Given the description of an element on the screen output the (x, y) to click on. 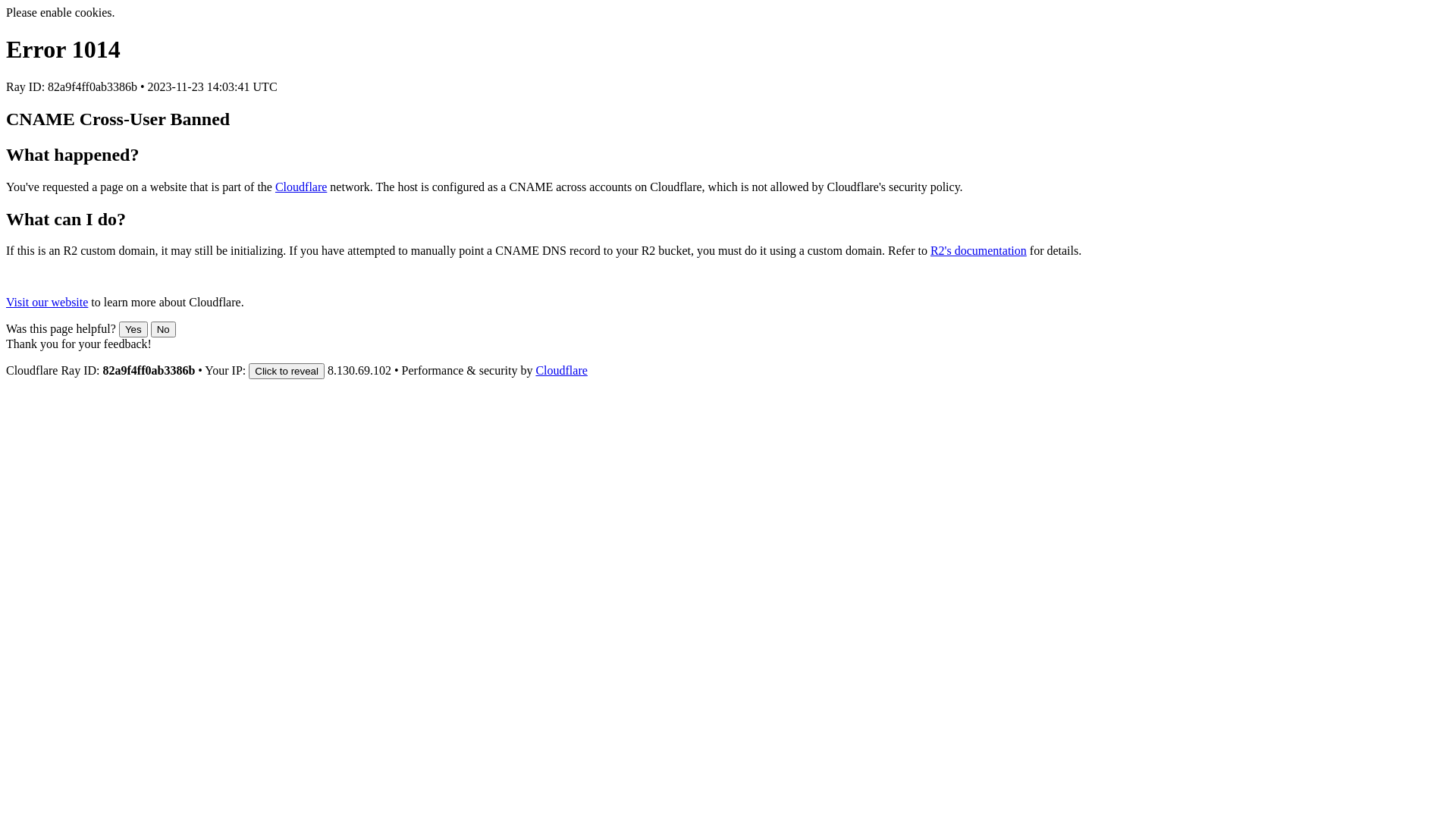
Click to reveal Element type: text (286, 371)
Yes Element type: text (133, 329)
R2's documentation Element type: text (978, 250)
Cloudflare Element type: text (560, 370)
Cloudflare Element type: text (300, 186)
No Element type: text (162, 329)
Visit our website Element type: text (46, 301)
